Given the description of an element on the screen output the (x, y) to click on. 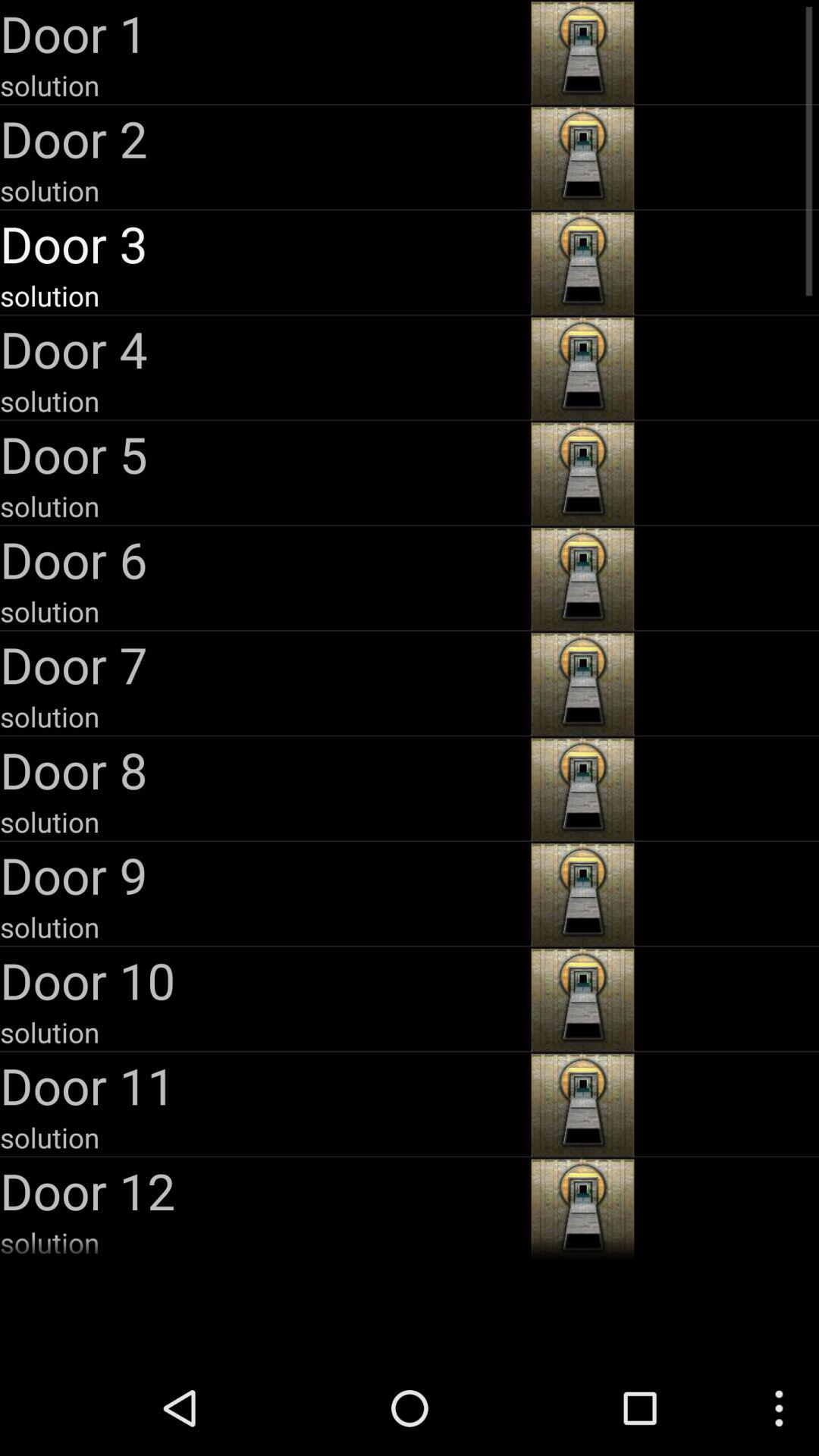
press the item below solution app (263, 664)
